Given the description of an element on the screen output the (x, y) to click on. 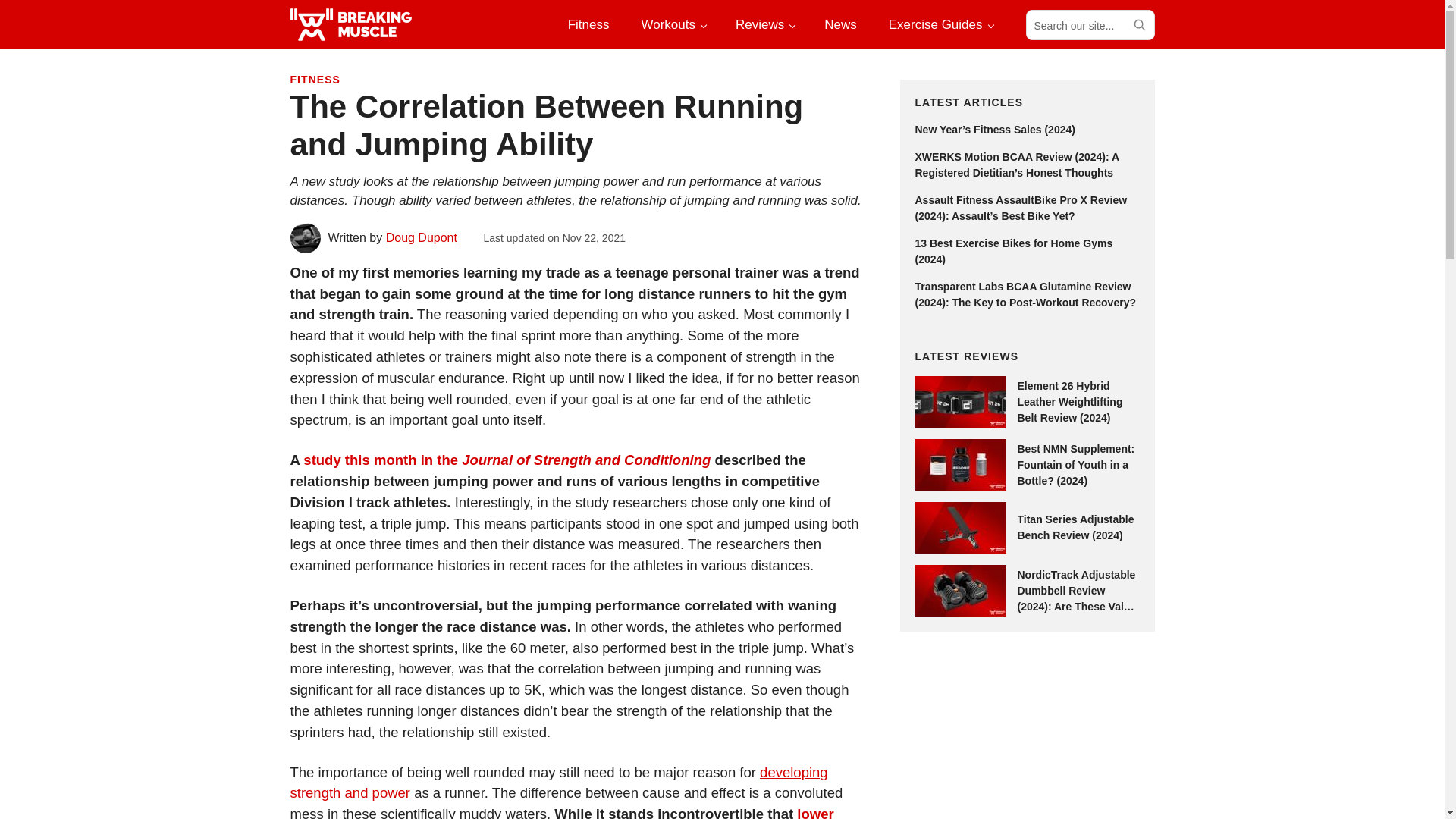
Submit search (1138, 24)
Reviews (764, 24)
Workouts (672, 24)
Submit search (1138, 24)
Fitness (588, 24)
